Given the description of an element on the screen output the (x, y) to click on. 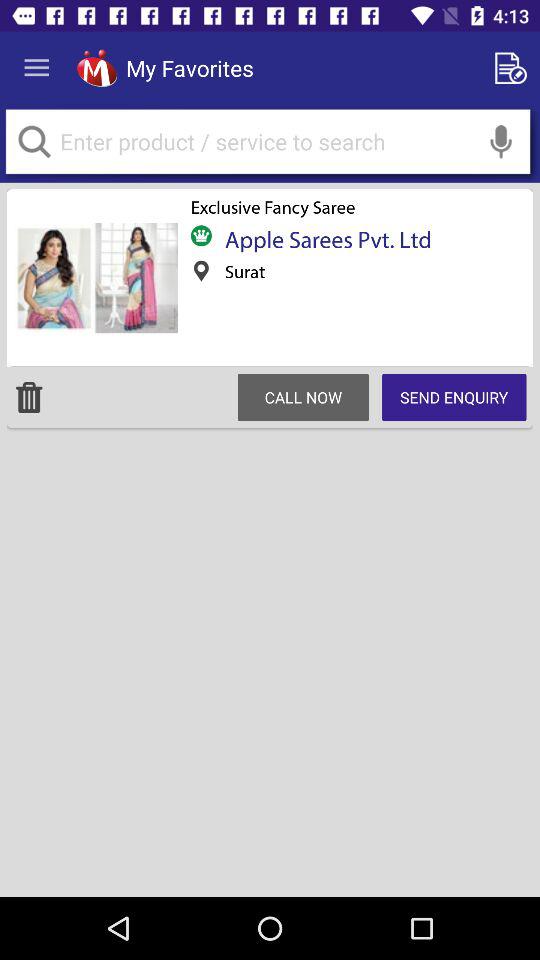
opens notepad (514, 68)
